Given the description of an element on the screen output the (x, y) to click on. 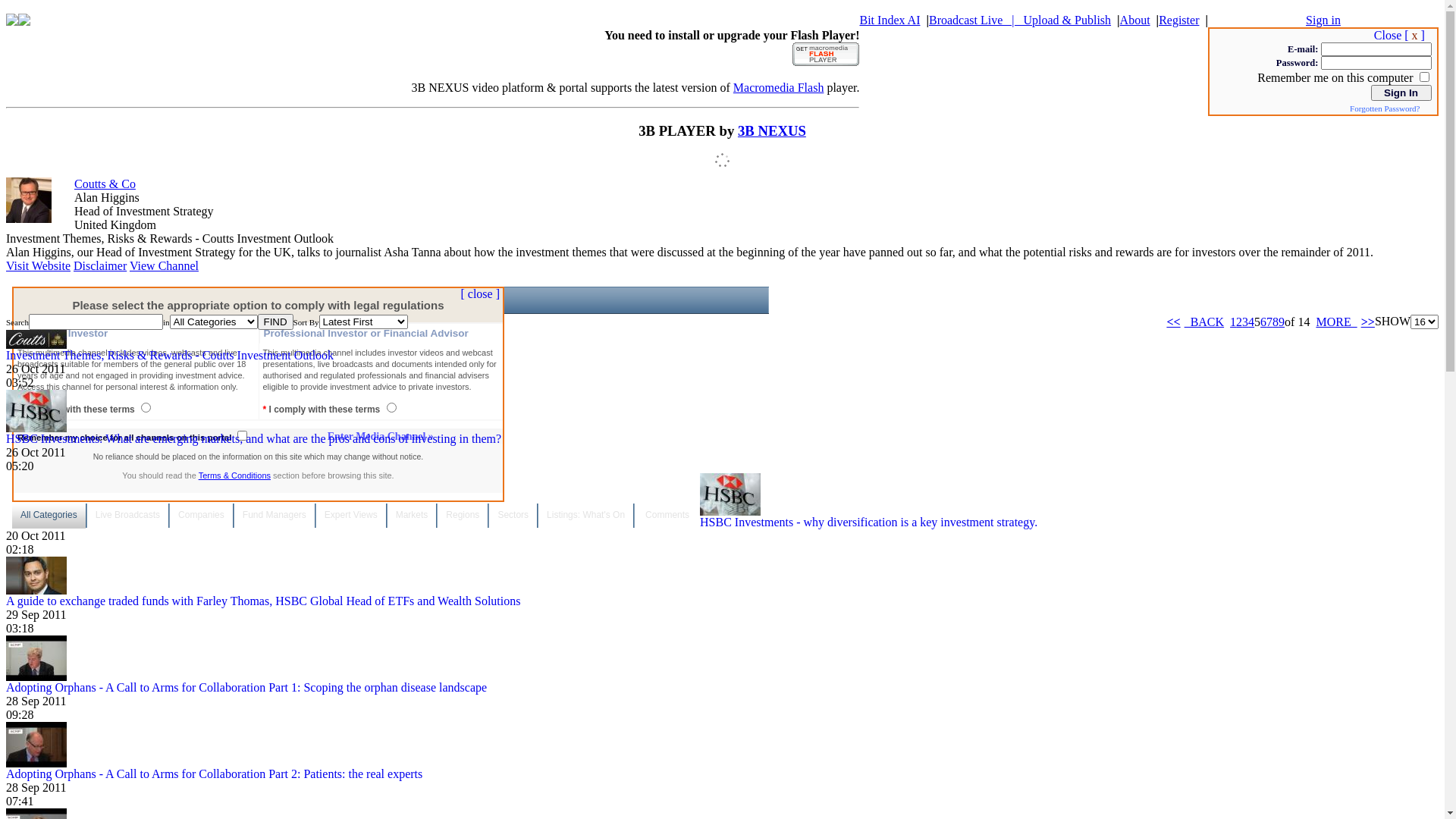
Expert Views Element type: text (350, 515)
1 Element type: text (1233, 321)
 Sign In  Element type: text (1401, 92)
7 Element type: text (1269, 321)
Forgotten Password? Element type: text (1389, 107)
Bit Index AI Element type: text (889, 19)
Sectors Element type: text (512, 515)
FIND Element type: text (275, 321)
<< Element type: text (1172, 321)
Sign in Element type: text (1322, 19)
Register Element type: text (1178, 19)
Comments Element type: text (666, 515)
Fund Managers Element type: text (274, 515)
View Channel Element type: text (163, 265)
Visit Website Element type: text (38, 265)
Disclaimer Element type: text (99, 265)
6 Element type: text (1263, 321)
9 Element type: text (1281, 321)
  BACK Element type: text (1201, 321)
All Categories Element type: text (48, 515)
3B NEXUS Element type: text (771, 130)
4 Element type: text (1251, 321)
MORE   Element type: text (1337, 321)
Companies Element type: text (200, 515)
3 Element type: text (1245, 321)
>> Element type: text (1367, 321)
Terms & Conditions Element type: text (234, 475)
8 Element type: text (1275, 321)
Listings: What's On Element type: text (585, 515)
Macromedia Flash Element type: text (778, 87)
Regions Element type: text (462, 515)
Live Broadcasts Element type: text (127, 515)
[ close ] Element type: text (479, 293)
2 Element type: text (1239, 321)
About Element type: text (1135, 19)
Broadcast Live   |   Upload & Publish Element type: text (1019, 19)
Markets Element type: text (411, 515)
Coutts & Co Element type: text (104, 183)
Close [ x ] Element type: text (1399, 34)
